Given the description of an element on the screen output the (x, y) to click on. 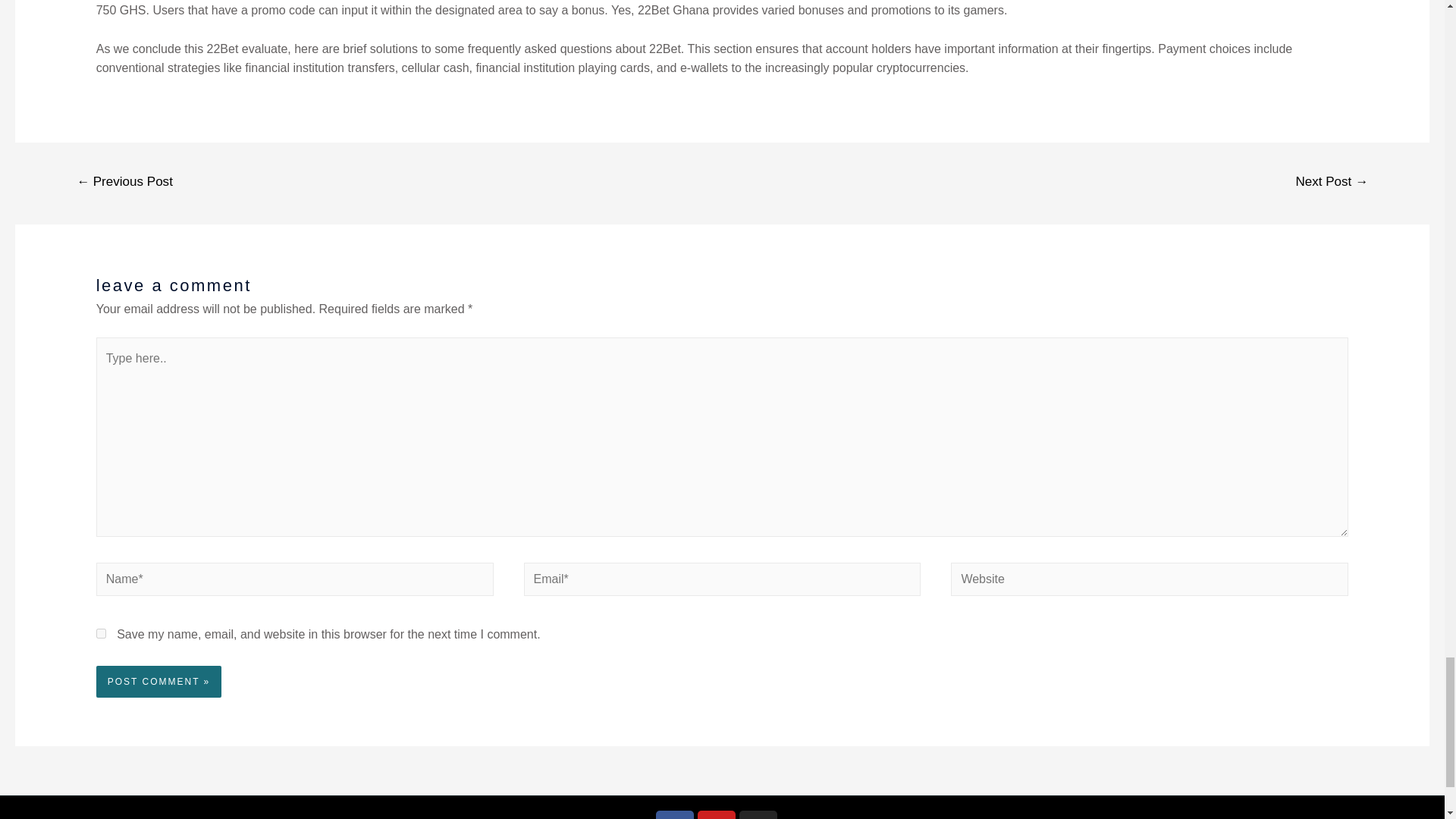
yes (101, 633)
